Given the description of an element on the screen output the (x, y) to click on. 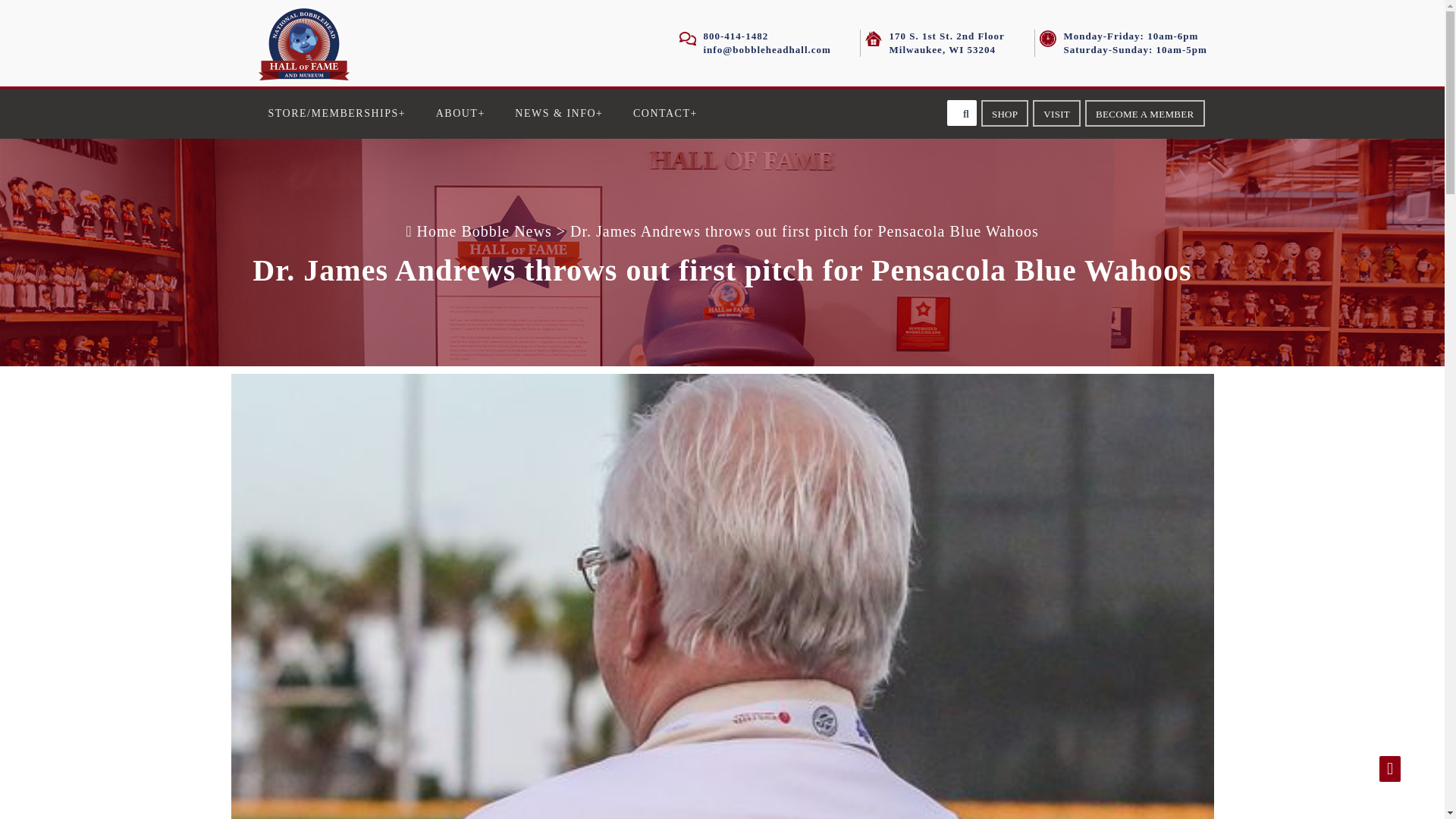
800-414-1482 (735, 35)
CONTACT (665, 113)
ABOUT (460, 113)
